Given the description of an element on the screen output the (x, y) to click on. 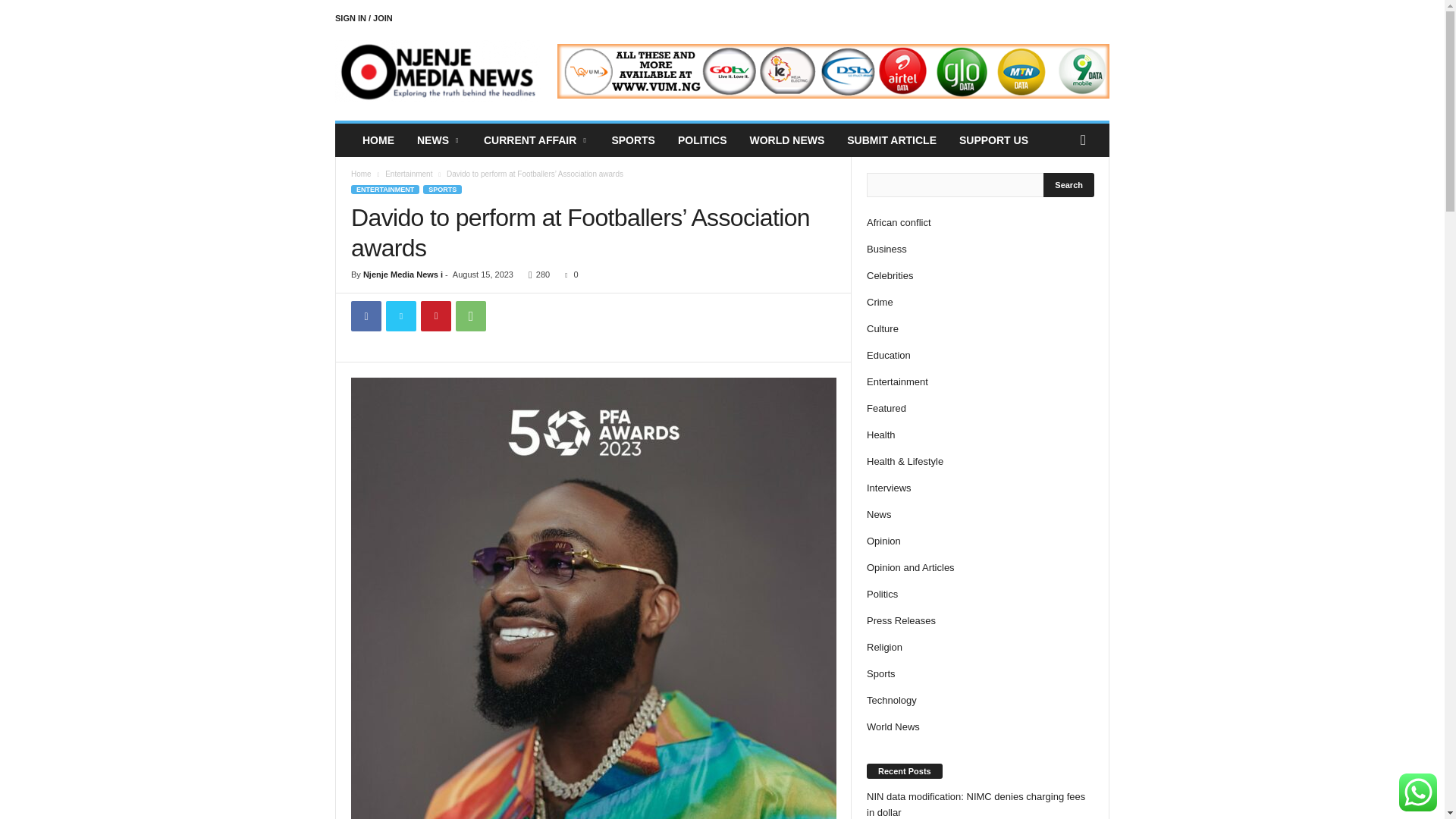
Facebook (365, 316)
NEWS (438, 140)
SPORTS (632, 140)
WORLD NEWS (786, 140)
Pinterest (435, 316)
SUBMIT ARTICLE (891, 140)
Twitter (400, 316)
Search (1068, 184)
WhatsApp (470, 316)
CURRENT AFFAIR (535, 140)
SUPPORT US (993, 140)
HOME (378, 140)
Njenje Media News (437, 70)
View all posts in Entertainment (408, 173)
